Given the description of an element on the screen output the (x, y) to click on. 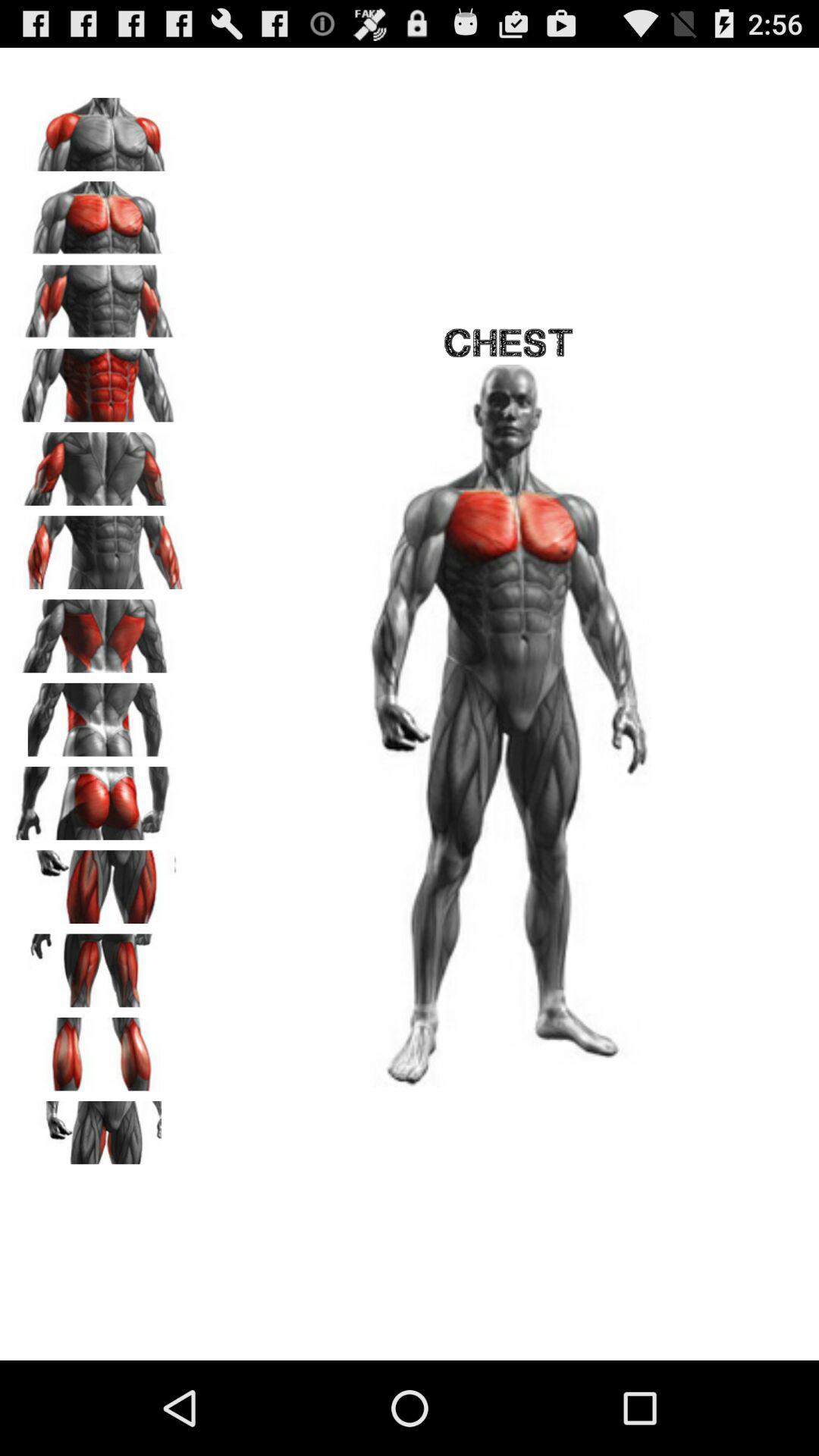
look at the lower back (99, 714)
